Given the description of an element on the screen output the (x, y) to click on. 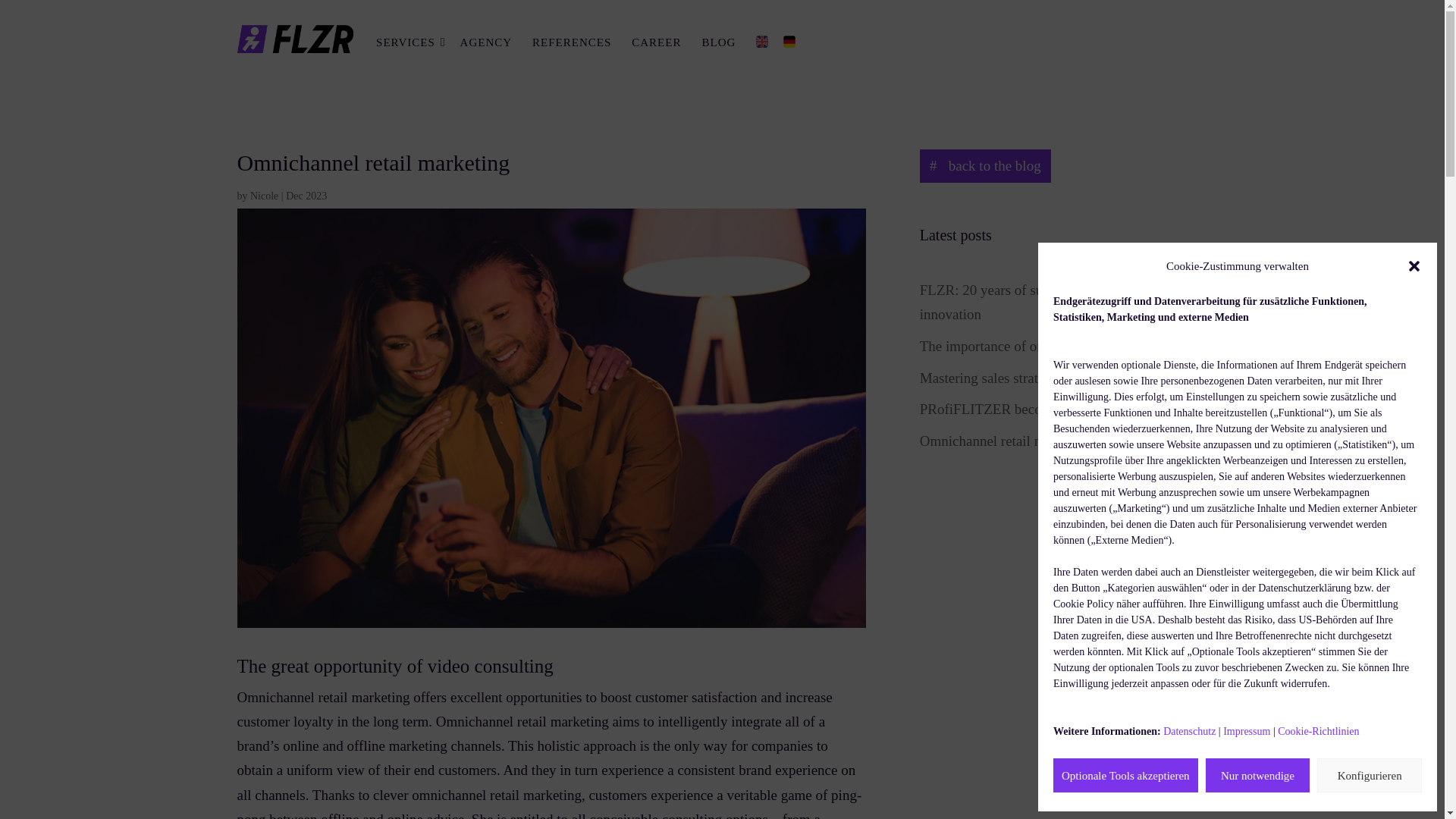
Datenschutz (1189, 731)
Nur notwendige (1257, 775)
BLOG (721, 42)
AGENCY (489, 42)
Konfigurieren (1369, 775)
REFERENCES (573, 42)
Cookie-Richtlinien (1318, 731)
Optionale Tools akzeptieren (1125, 775)
CAREER (658, 42)
